Given the description of an element on the screen output the (x, y) to click on. 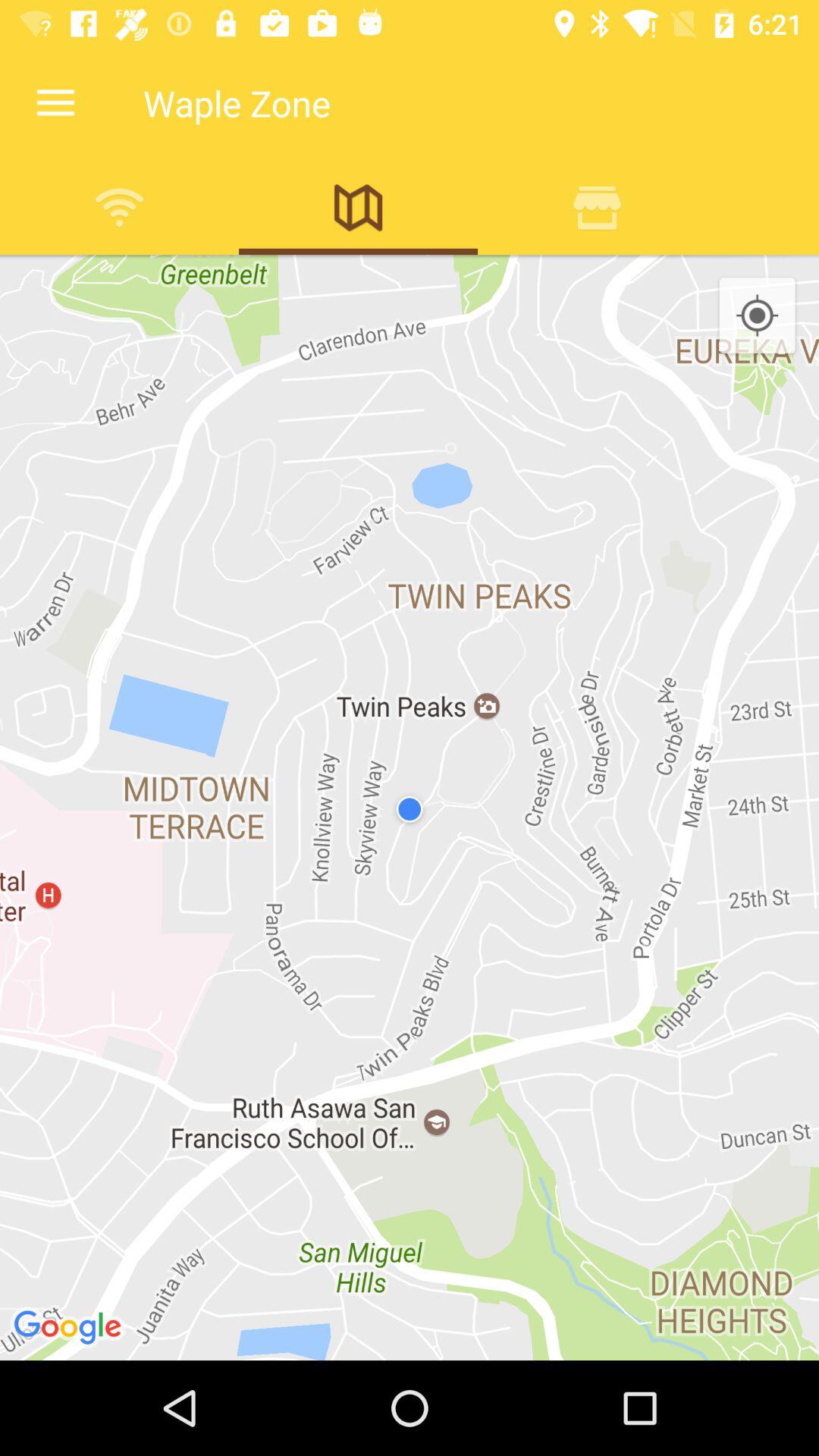
map (357, 206)
